Given the description of an element on the screen output the (x, y) to click on. 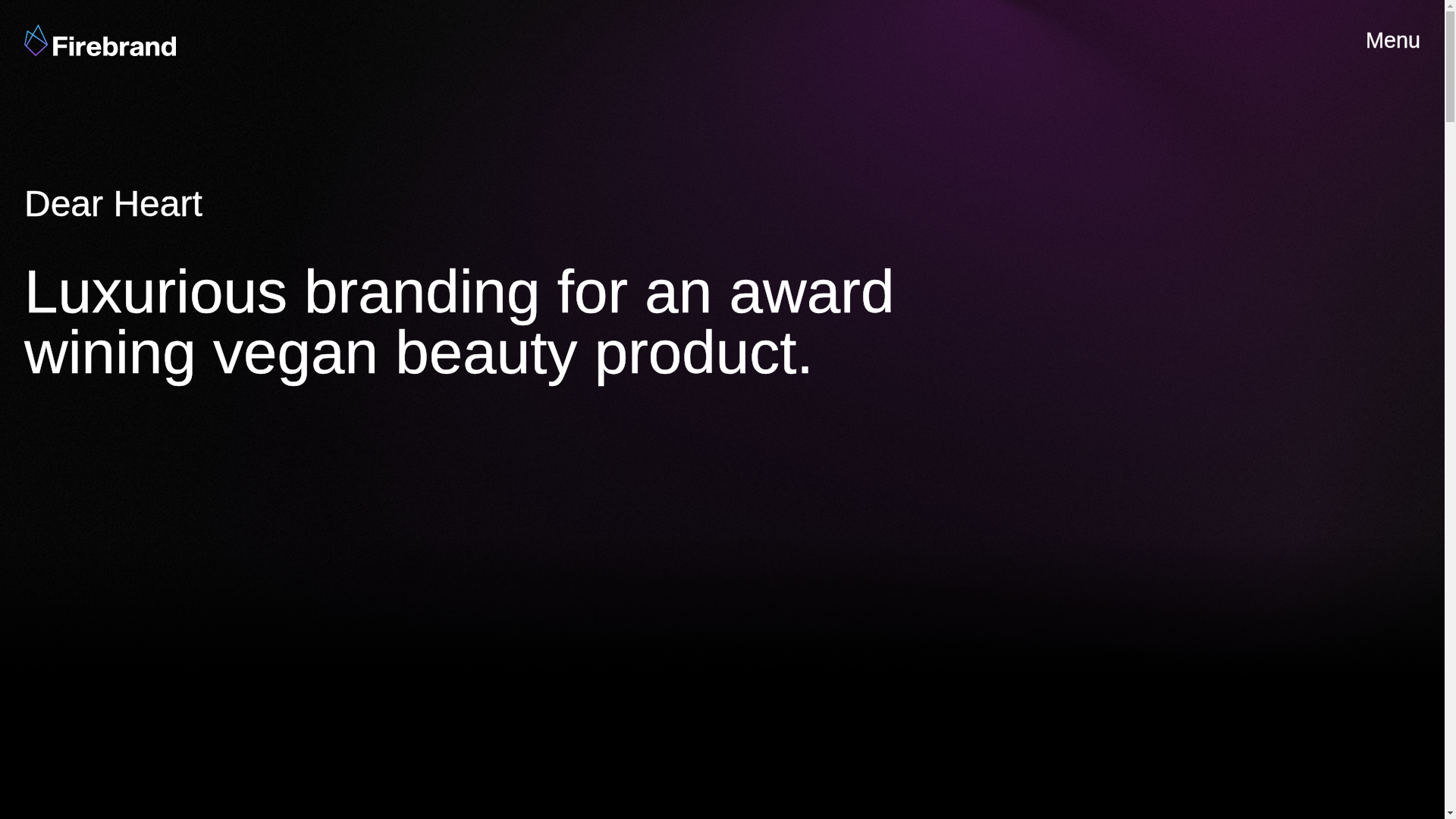
Firebrand Logo (100, 40)
Firebrand Logo (100, 40)
